Given the description of an element on the screen output the (x, y) to click on. 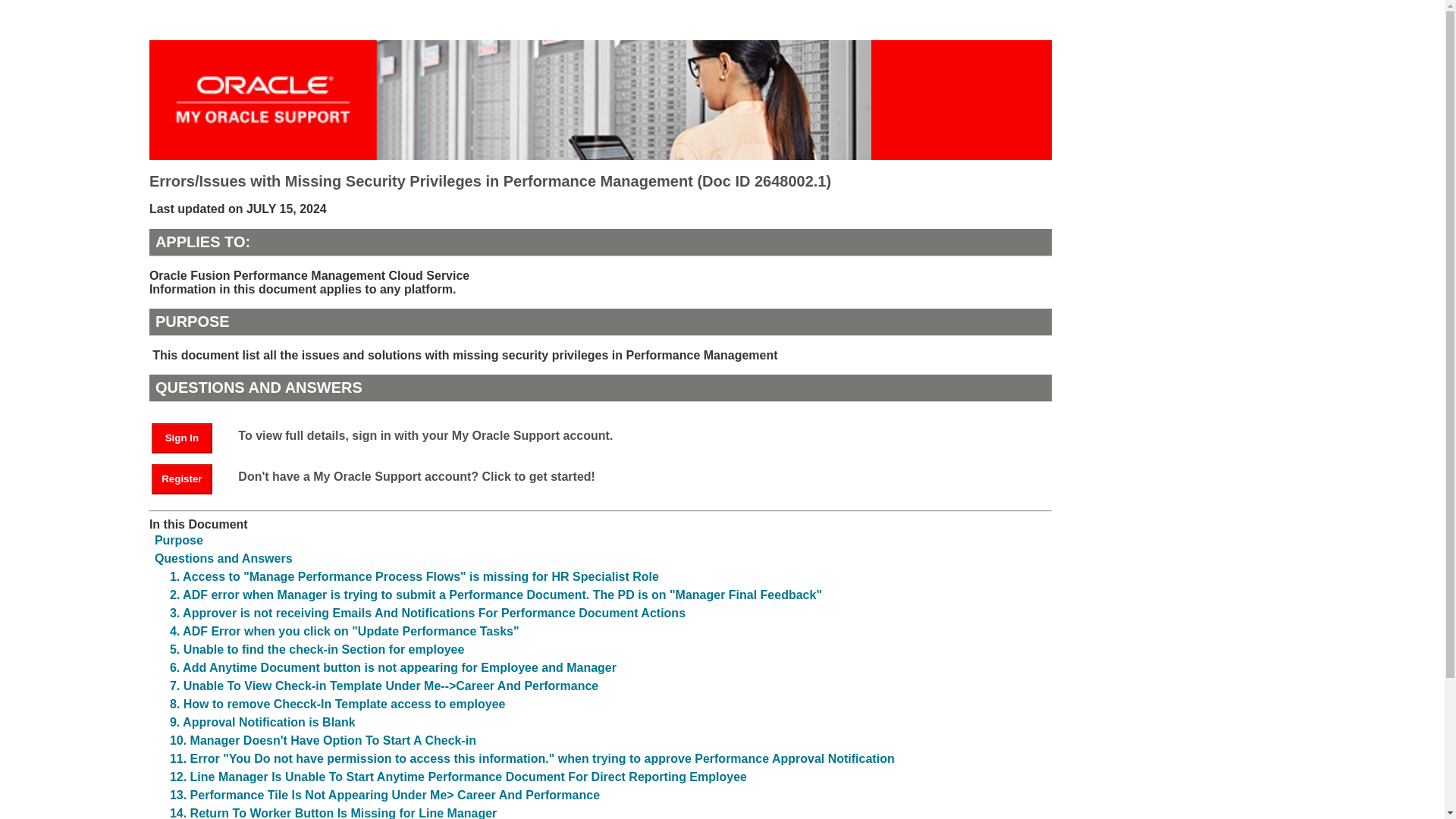
Register (189, 477)
4. ADF Error when you click on "Update Performance Tasks" (344, 631)
9. Approval Notification is Blank (262, 721)
8. How to remove Checck-In Template access to employee (337, 703)
14. Return To Worker Button Is Missing for Line Manager (333, 812)
10. Manager Doesn't Have Option To Start A Check-in (323, 739)
